Given the description of an element on the screen output the (x, y) to click on. 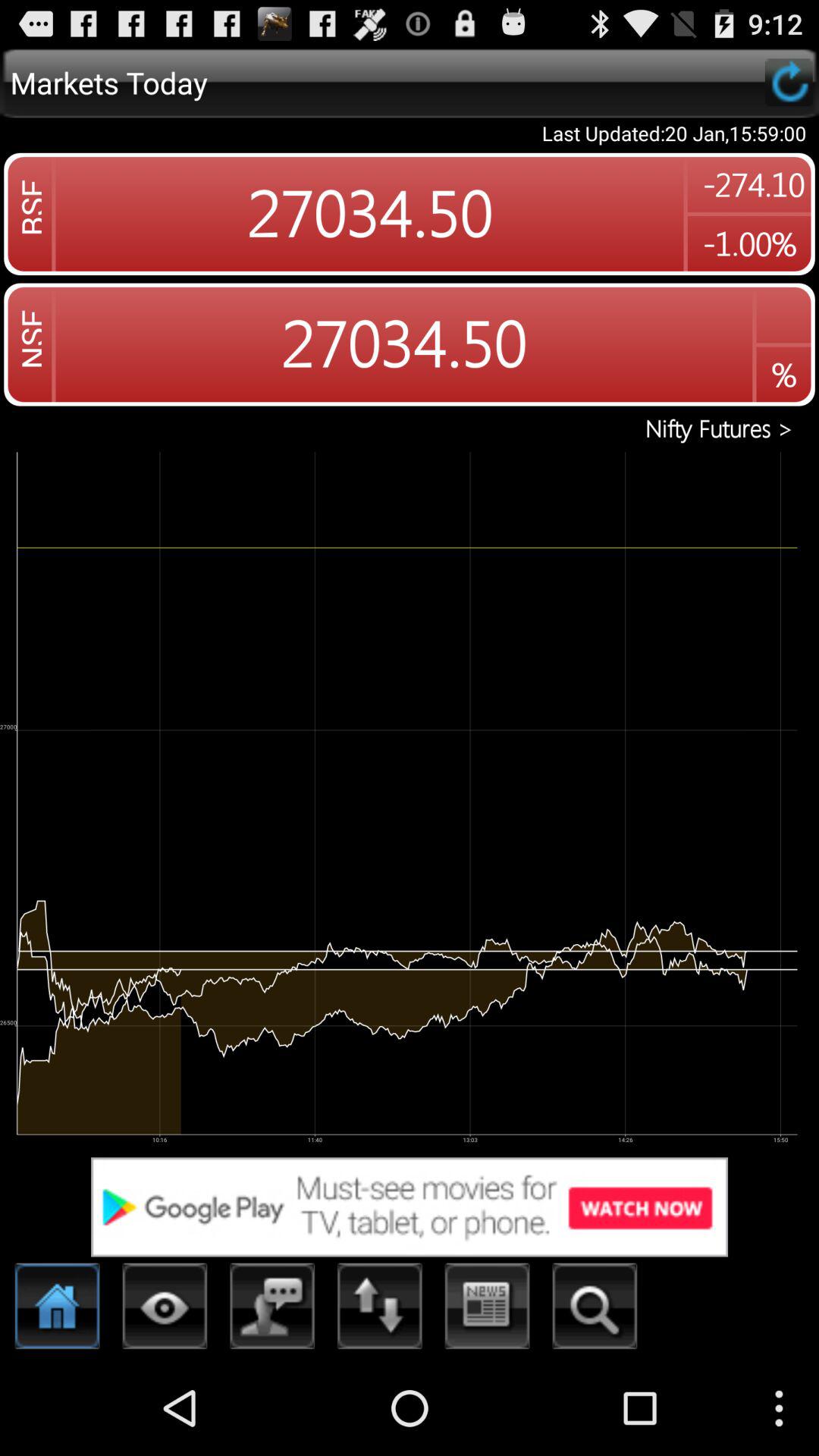
view more (164, 1310)
